Given the description of an element on the screen output the (x, y) to click on. 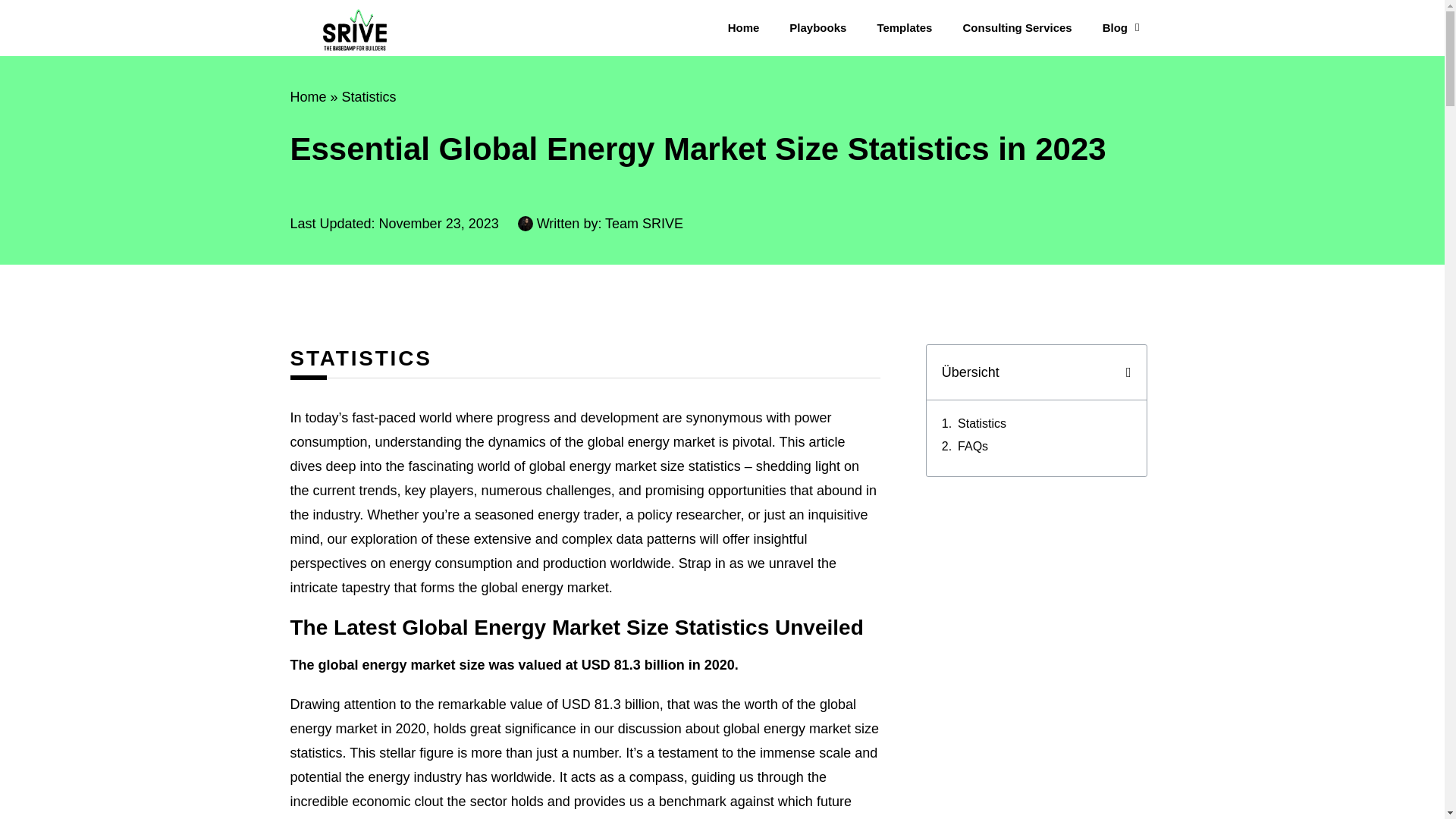
Playbooks (817, 27)
Statistics (982, 423)
Written by: Team SRIVE (600, 223)
Blog (1120, 27)
Consulting Services (1016, 27)
Home (307, 96)
Home (743, 27)
Templates (904, 27)
Statistics (369, 96)
FAQs (973, 446)
